Given the description of an element on the screen output the (x, y) to click on. 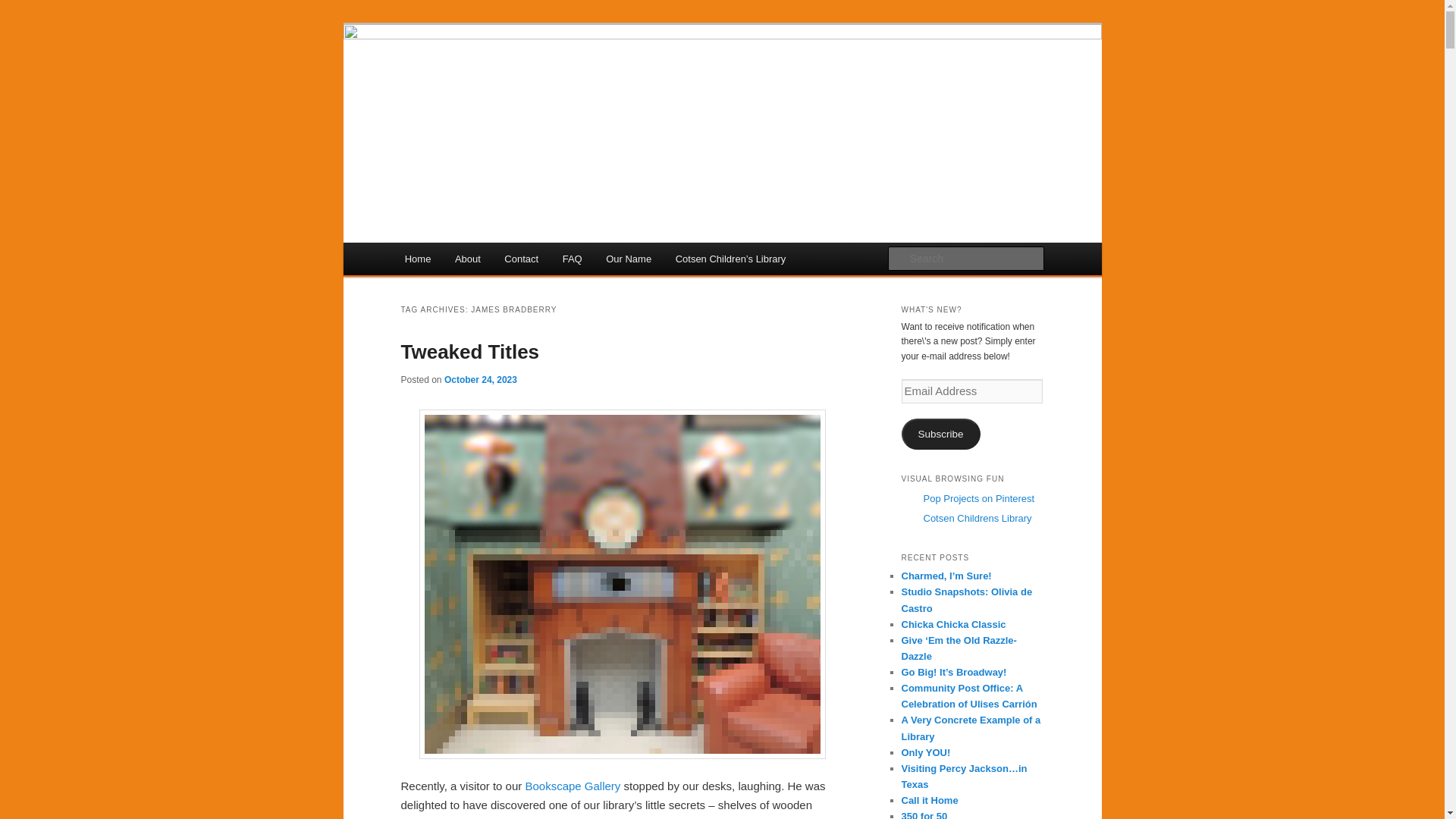
Pop Goes the Page (503, 78)
About (467, 258)
October 24, 2023 (480, 379)
Our Name (628, 258)
1:44 pm (480, 379)
Pop Projects on Pinterest (979, 498)
Home (417, 258)
Tweaked Titles (469, 351)
Contact (521, 258)
FAQ (572, 258)
Bookscape Gallery (572, 785)
Cotsen Childrens Library on Facebook (977, 518)
Search (24, 8)
